Given the description of an element on the screen output the (x, y) to click on. 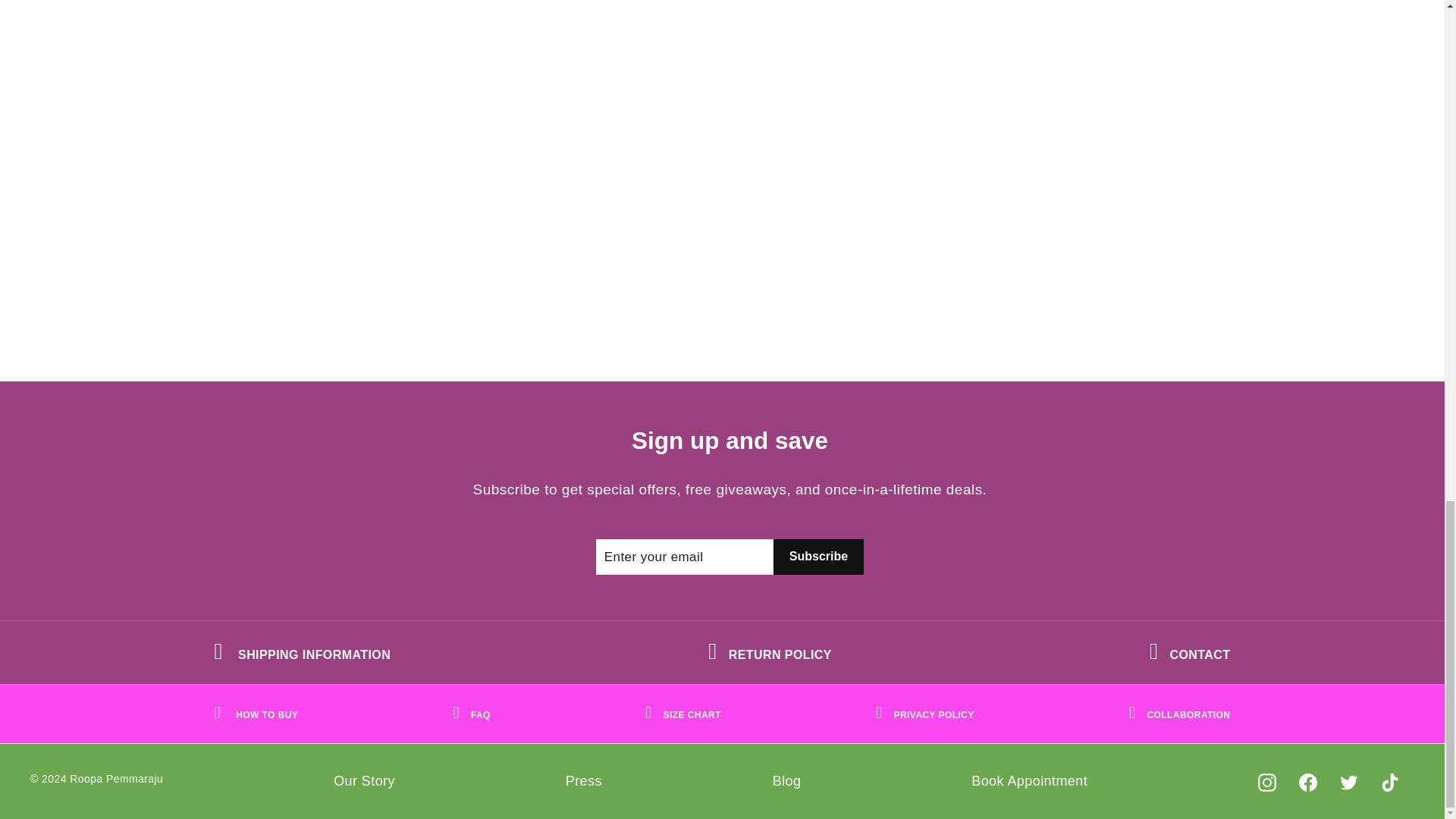
instagram (1266, 782)
twitter (1348, 782)
